Given the description of an element on the screen output the (x, y) to click on. 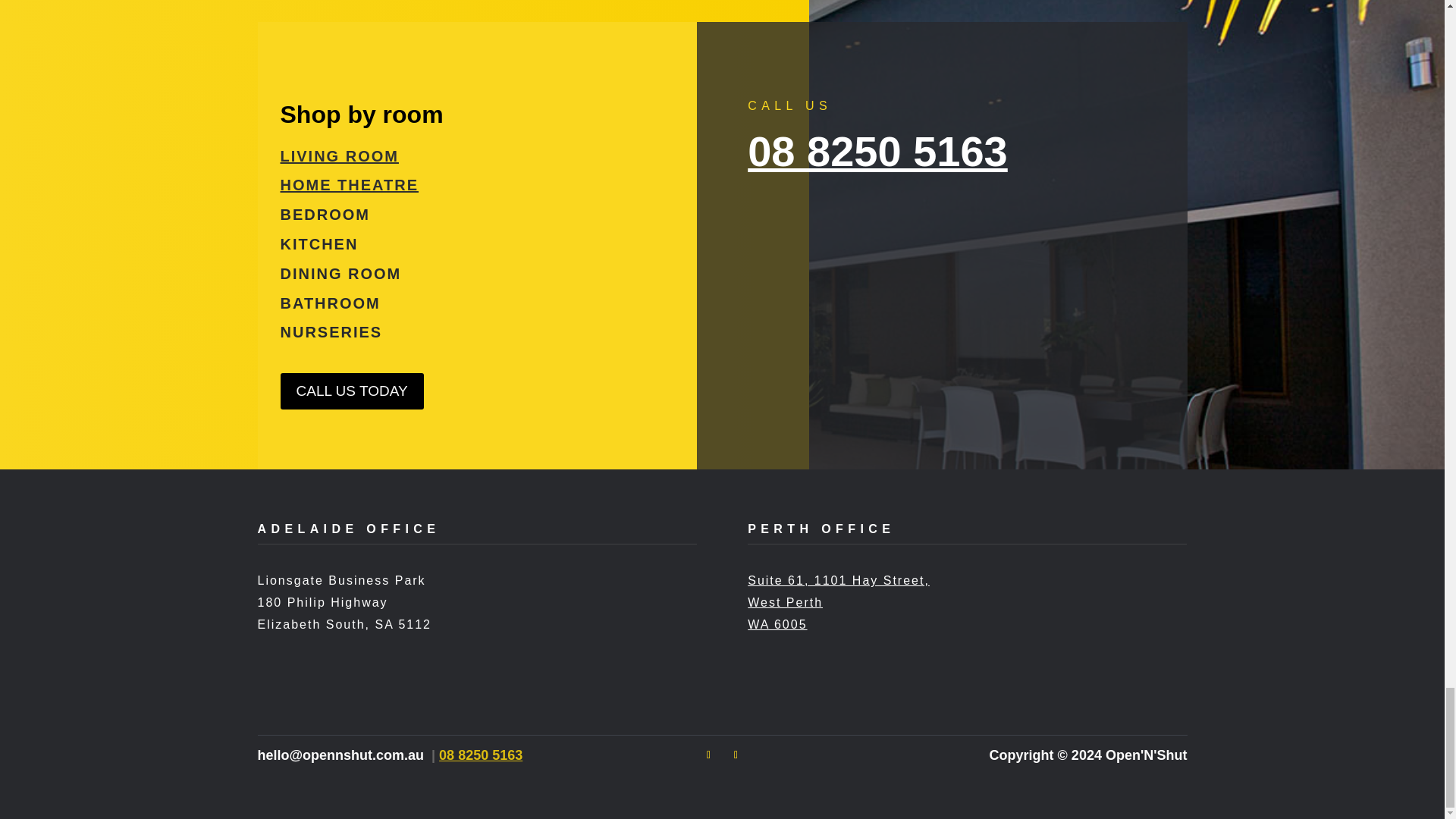
Follow on Facebook (708, 754)
Follow on Instagram (735, 754)
